Given the description of an element on the screen output the (x, y) to click on. 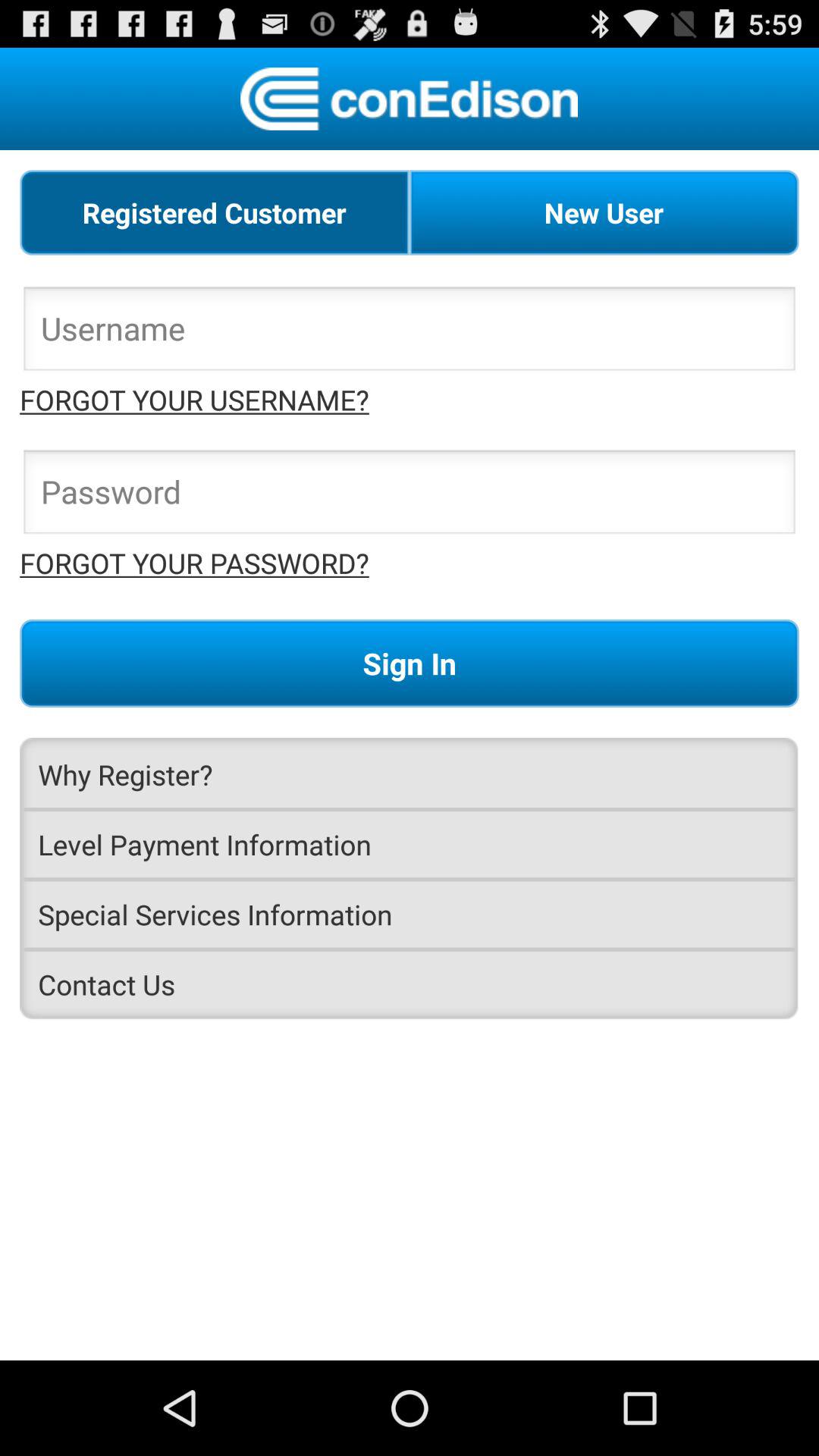
swipe until the level payment information item (409, 844)
